Given the description of an element on the screen output the (x, y) to click on. 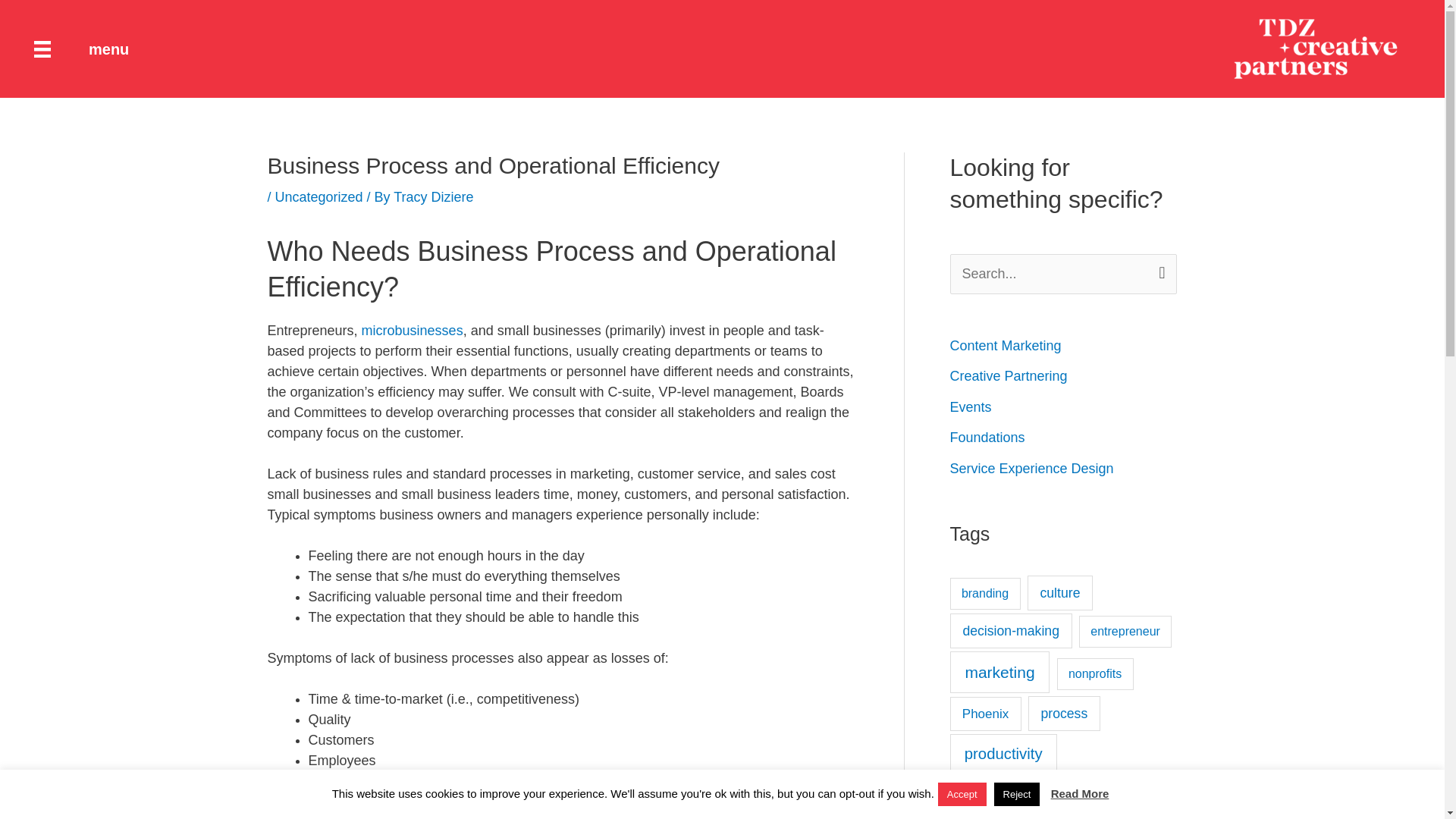
relationships (1006, 796)
process (1063, 713)
Content Marketing (1005, 345)
Tracy Diziere (433, 196)
branding (984, 593)
nonprofits (1095, 674)
Phoenix (984, 713)
microbusinesses (412, 330)
Uncategorized (318, 196)
decision-making (1010, 630)
productivity (1003, 753)
Service Experience Design (1031, 468)
marketing (999, 671)
Events (970, 406)
View all posts by Tracy Diziere (433, 196)
